Given the description of an element on the screen output the (x, y) to click on. 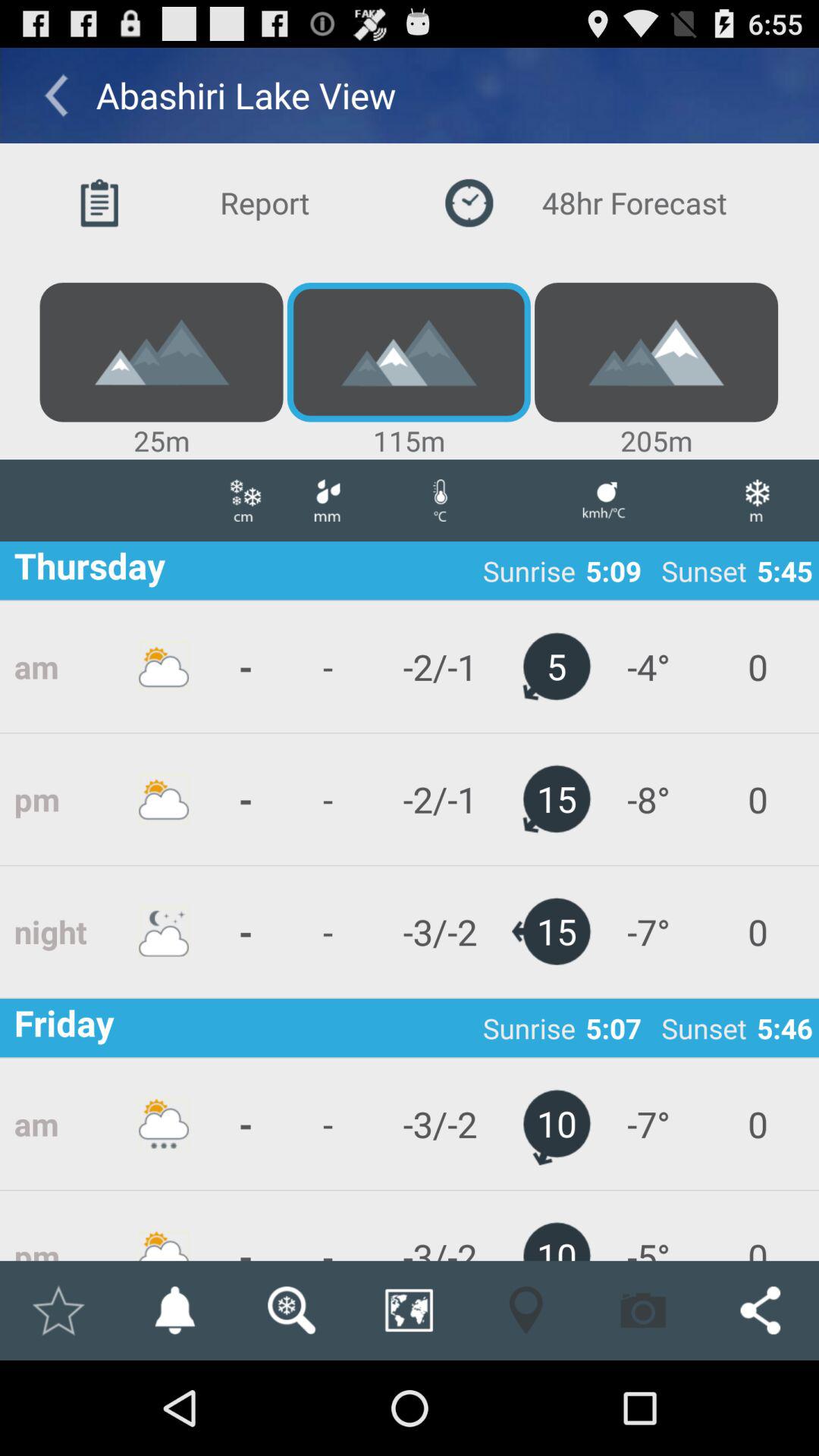
turn off item below 10 app (642, 1310)
